Given the description of an element on the screen output the (x, y) to click on. 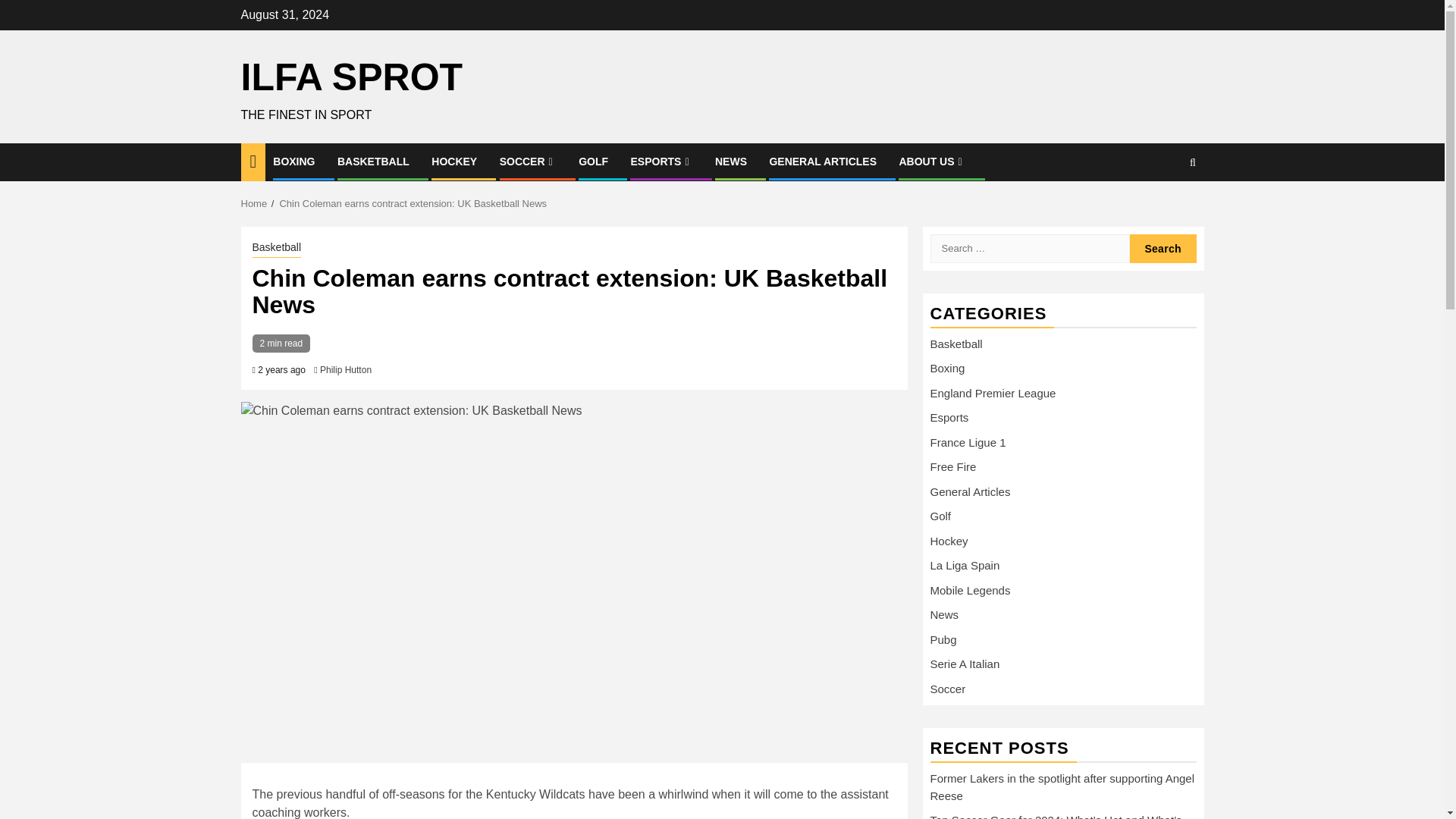
Search (1162, 247)
BOXING (293, 161)
Basketball (276, 248)
ABOUT US (931, 161)
HOCKEY (453, 161)
Home (254, 203)
SOCCER (527, 161)
ESPORTS (661, 161)
NEWS (730, 161)
ILFA SPROT (352, 77)
